Given the description of an element on the screen output the (x, y) to click on. 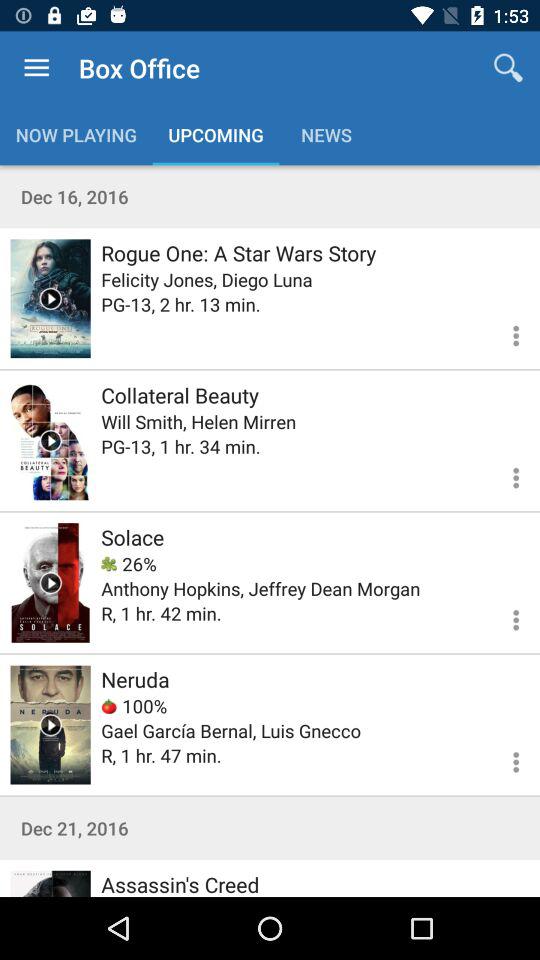
swipe until the collateral beauty item (180, 394)
